Given the description of an element on the screen output the (x, y) to click on. 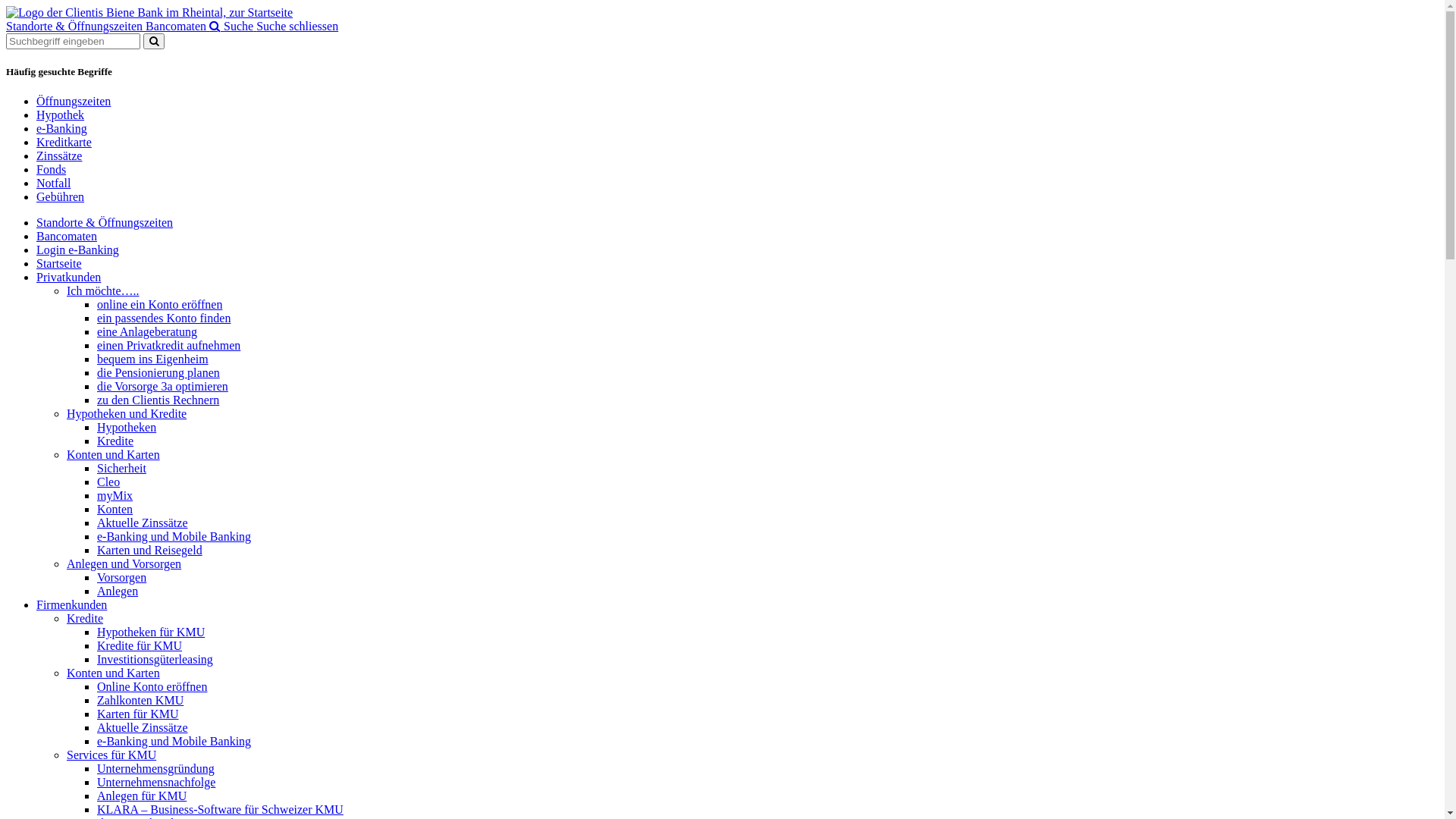
Kredite Element type: text (767, 441)
die Pensionierung planen Element type: text (767, 372)
Login e-Banking Element type: text (737, 250)
Anlegen und Vorsorgen Element type: text (752, 564)
Kredite Element type: text (752, 618)
zu den Clientis Rechnern Element type: text (767, 400)
einen Privatkredit aufnehmen Element type: text (767, 345)
e-Banking und Mobile Banking Element type: text (767, 536)
e-Banking Element type: text (61, 128)
bequem ins Eigenheim Element type: text (767, 359)
Unternehmensnachfolge Element type: text (767, 782)
Suche schliessen Element type: text (297, 25)
eine Anlageberatung Element type: text (767, 331)
Privatkunden Element type: text (737, 277)
Anlegen Element type: text (767, 591)
die Vorsorge 3a optimieren Element type: text (767, 386)
Konten und Karten Element type: text (752, 454)
Hypotheken Element type: text (767, 427)
Suche Element type: text (232, 25)
Fonds Element type: text (50, 169)
Zahlkonten KMU Element type: text (767, 700)
Sicherheit Element type: text (767, 468)
myMix Element type: text (767, 495)
Konten Element type: text (767, 509)
Bancomaten Element type: text (177, 25)
ein passendes Konto finden Element type: text (767, 318)
e-Banking und Mobile Banking Element type: text (767, 741)
Startseite Element type: text (737, 263)
Bancomaten Element type: text (737, 236)
Hypotheken und Kredite Element type: text (752, 413)
Notfall Element type: text (53, 182)
Firmenkunden Element type: text (737, 604)
Hypothek Element type: text (60, 114)
Vorsorgen Element type: text (767, 577)
Konten und Karten Element type: text (752, 673)
Cleo Element type: text (767, 482)
Kreditkarte Element type: text (63, 141)
Karten und Reisegeld Element type: text (767, 550)
